Given the description of an element on the screen output the (x, y) to click on. 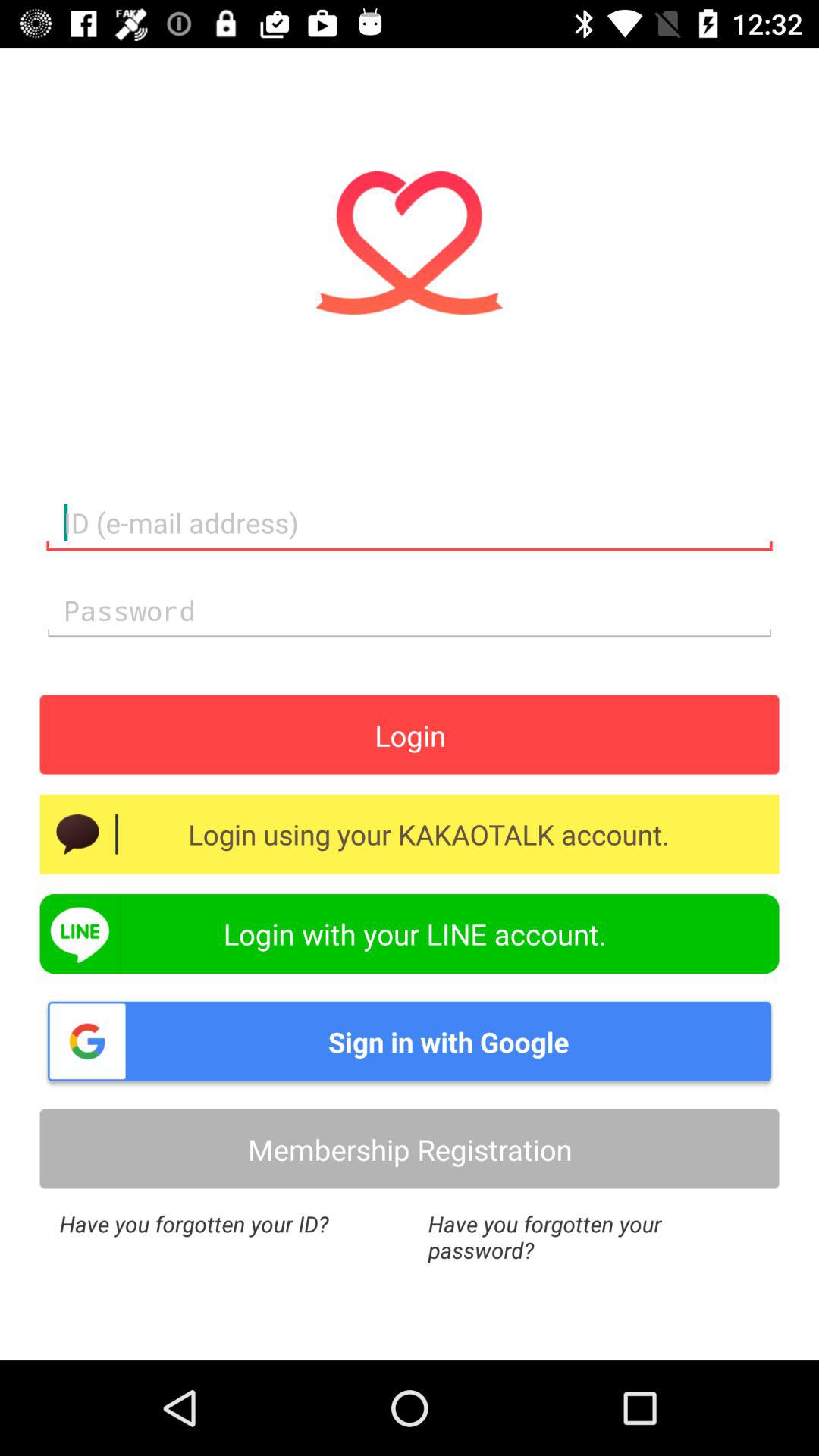
open item below the sign in with item (409, 1148)
